Given the description of an element on the screen output the (x, y) to click on. 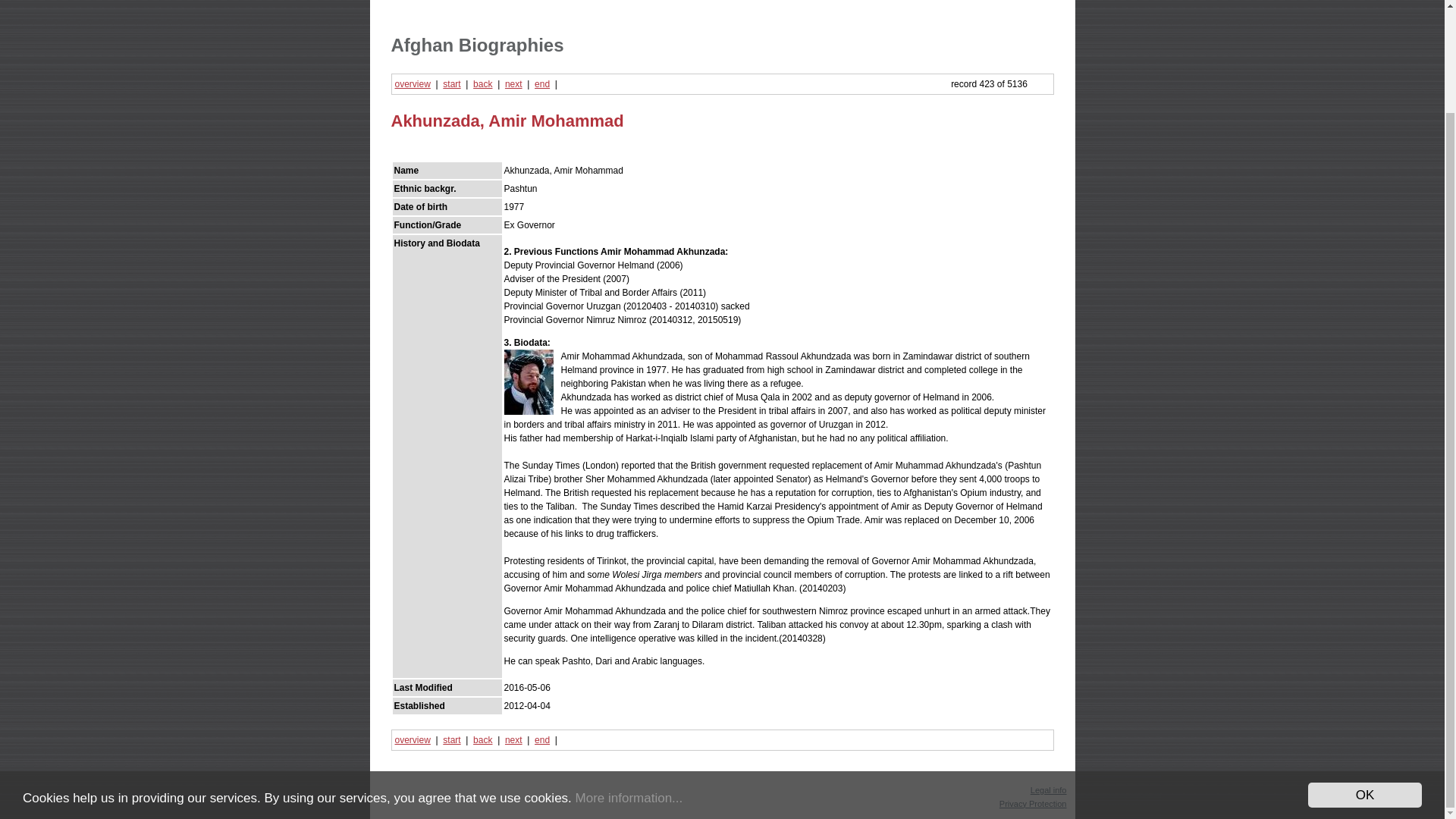
back (482, 739)
next (513, 83)
Privacy Protection (1032, 803)
end (542, 739)
Legal info (1048, 789)
overview (411, 83)
overview (411, 739)
back (482, 83)
start (451, 739)
next (513, 739)
end (542, 83)
start (451, 83)
